Given the description of an element on the screen output the (x, y) to click on. 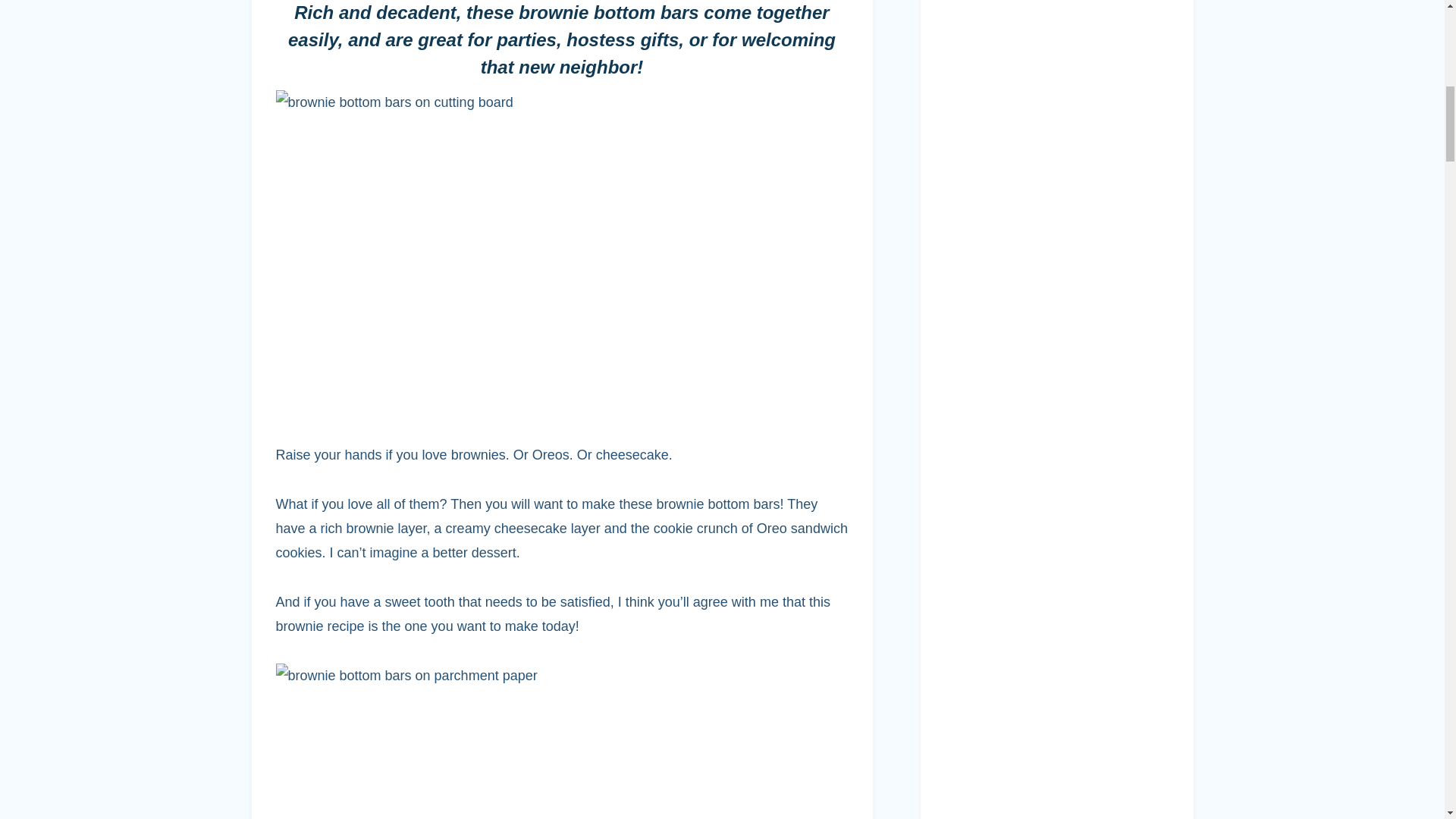
Brownie Bottom Bars 10 (534, 741)
